Given the description of an element on the screen output the (x, y) to click on. 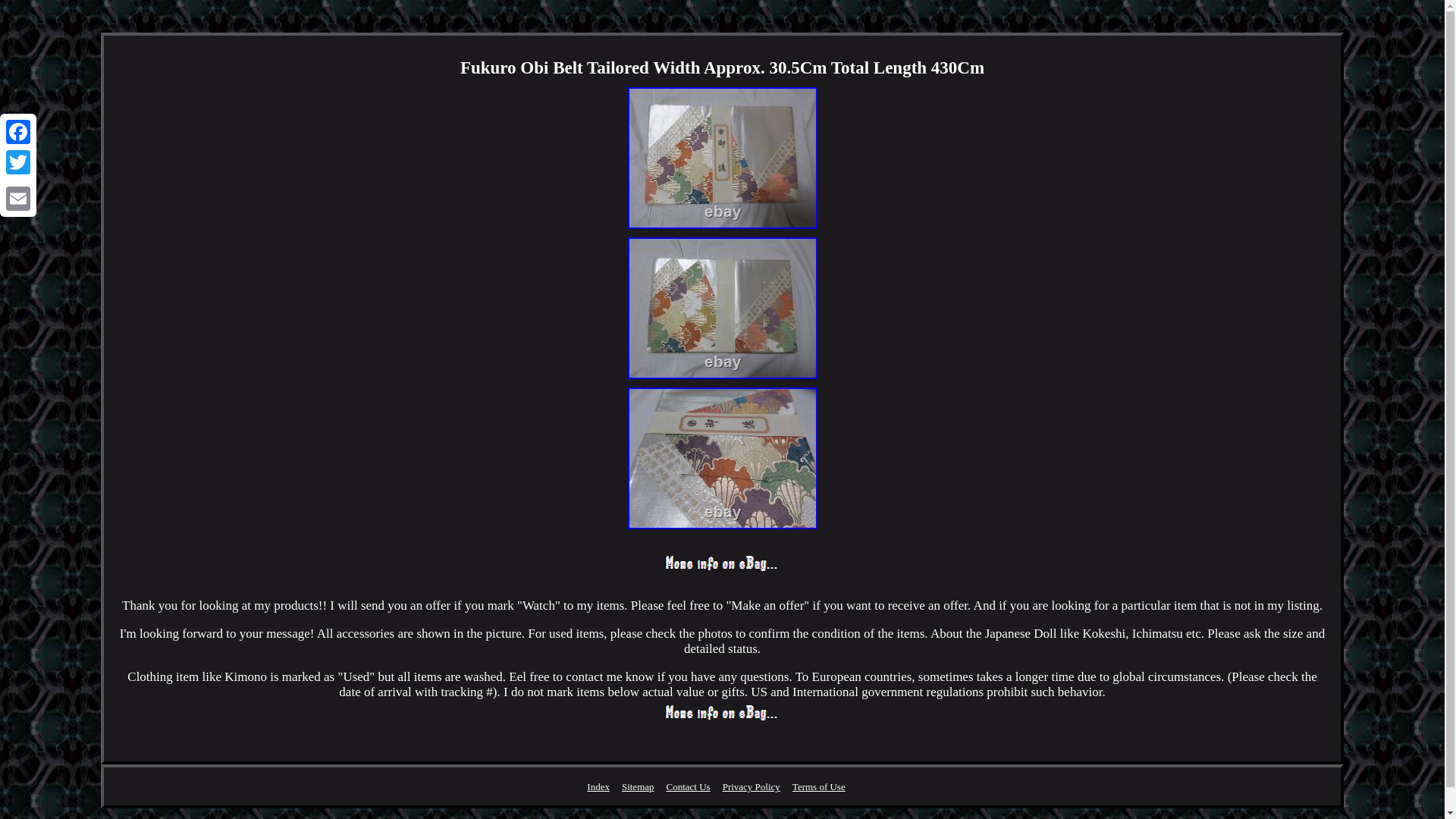
Facebook (17, 132)
Twitter (17, 162)
Email (17, 198)
